Given the description of an element on the screen output the (x, y) to click on. 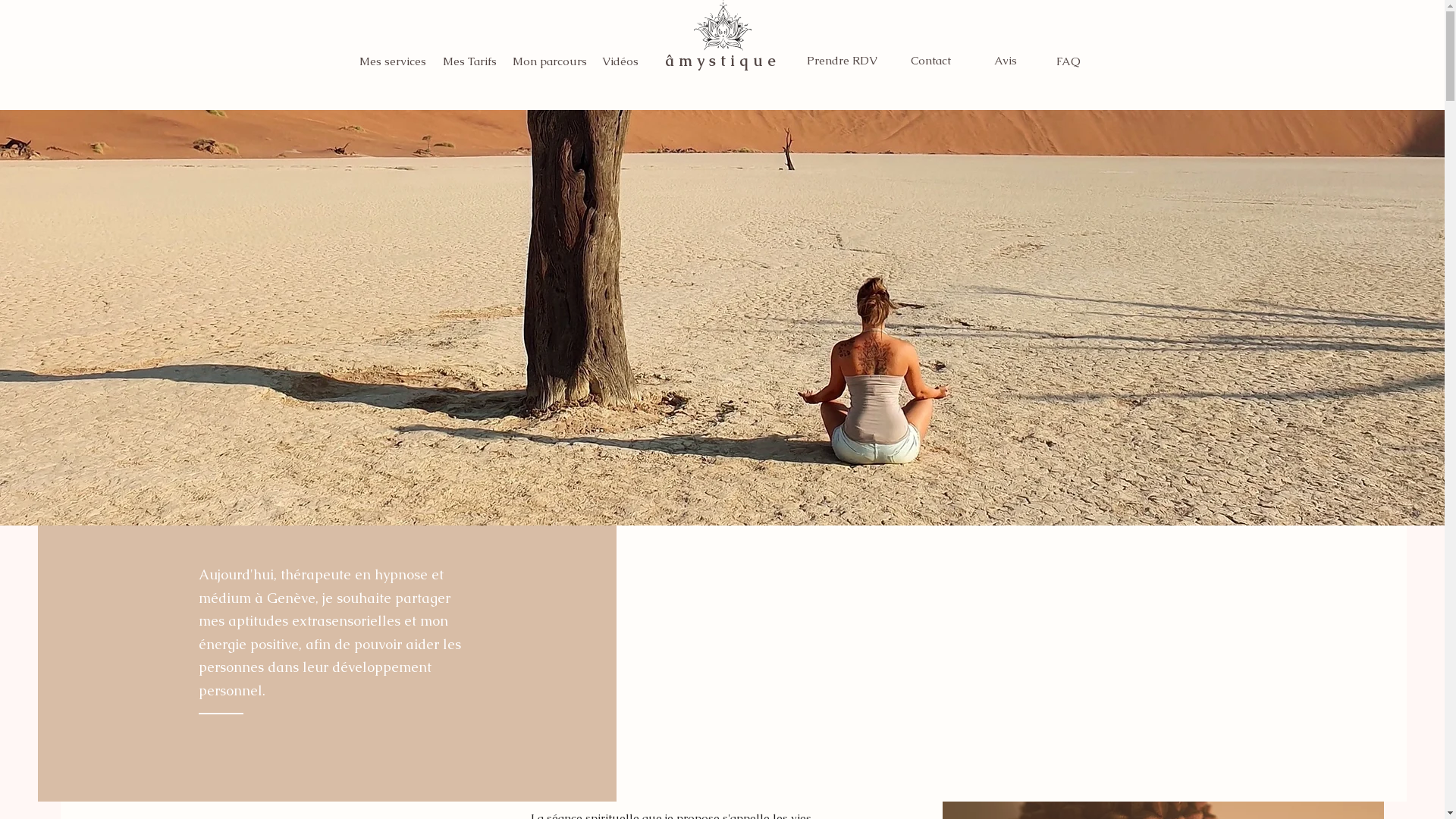
FAQ Element type: text (1068, 60)
Avis Element type: text (1005, 60)
Prendre RDV Element type: text (841, 60)
Mes services Element type: text (391, 60)
Contact Element type: text (929, 60)
Mon parcours Element type: text (550, 60)
